Given the description of an element on the screen output the (x, y) to click on. 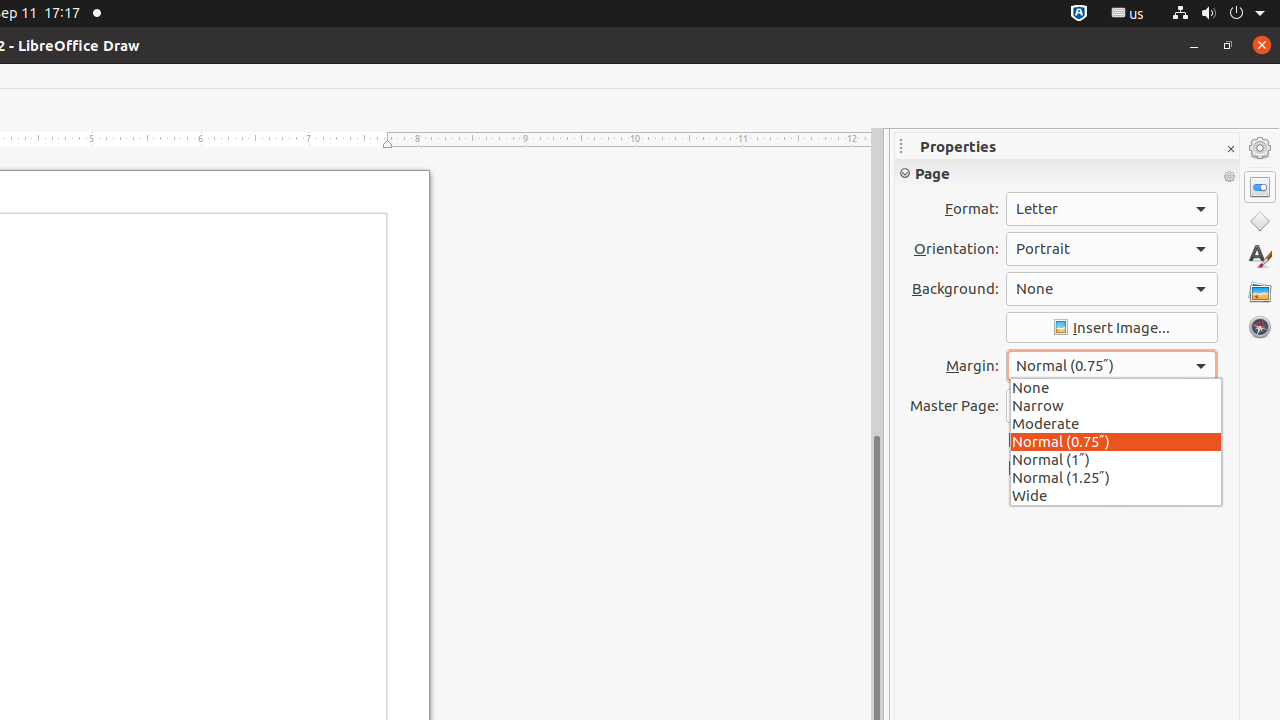
Narrow Element type: list-item (1116, 404)
:1.21/StatusNotifierItem Element type: menu (1127, 13)
Shapes Element type: radio-button (1260, 222)
Orientation: Element type: combo-box (1112, 249)
More Options Element type: push-button (1229, 177)
